Given the description of an element on the screen output the (x, y) to click on. 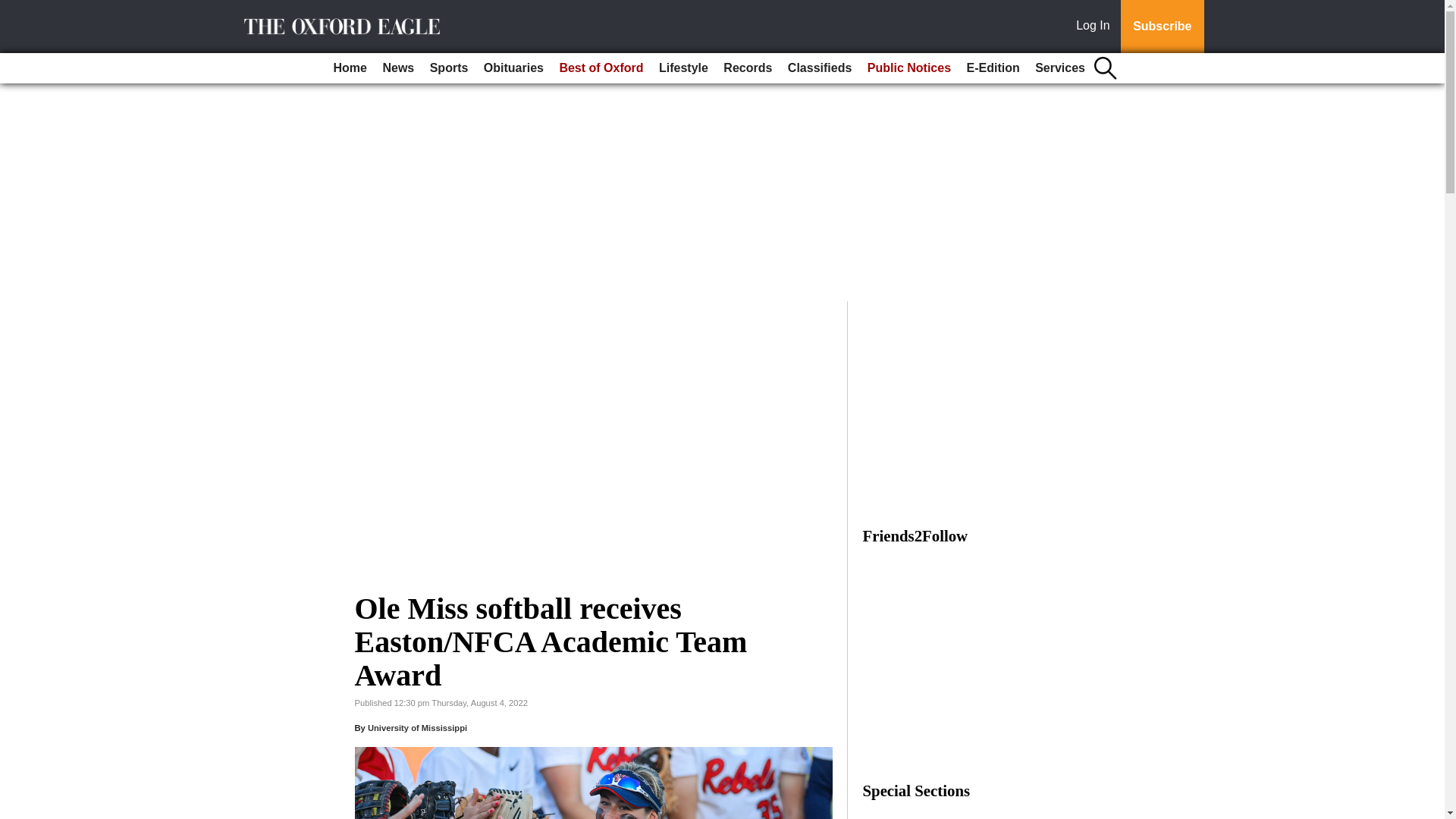
Best of Oxford (601, 68)
Log In (1095, 26)
Records (747, 68)
Services (1059, 68)
University of Mississippi (417, 727)
Home (349, 68)
Obituaries (513, 68)
Public Notices (908, 68)
E-Edition (992, 68)
Subscribe (1162, 26)
Classifieds (819, 68)
Sports (448, 68)
News (397, 68)
Lifestyle (683, 68)
Go (13, 9)
